Given the description of an element on the screen output the (x, y) to click on. 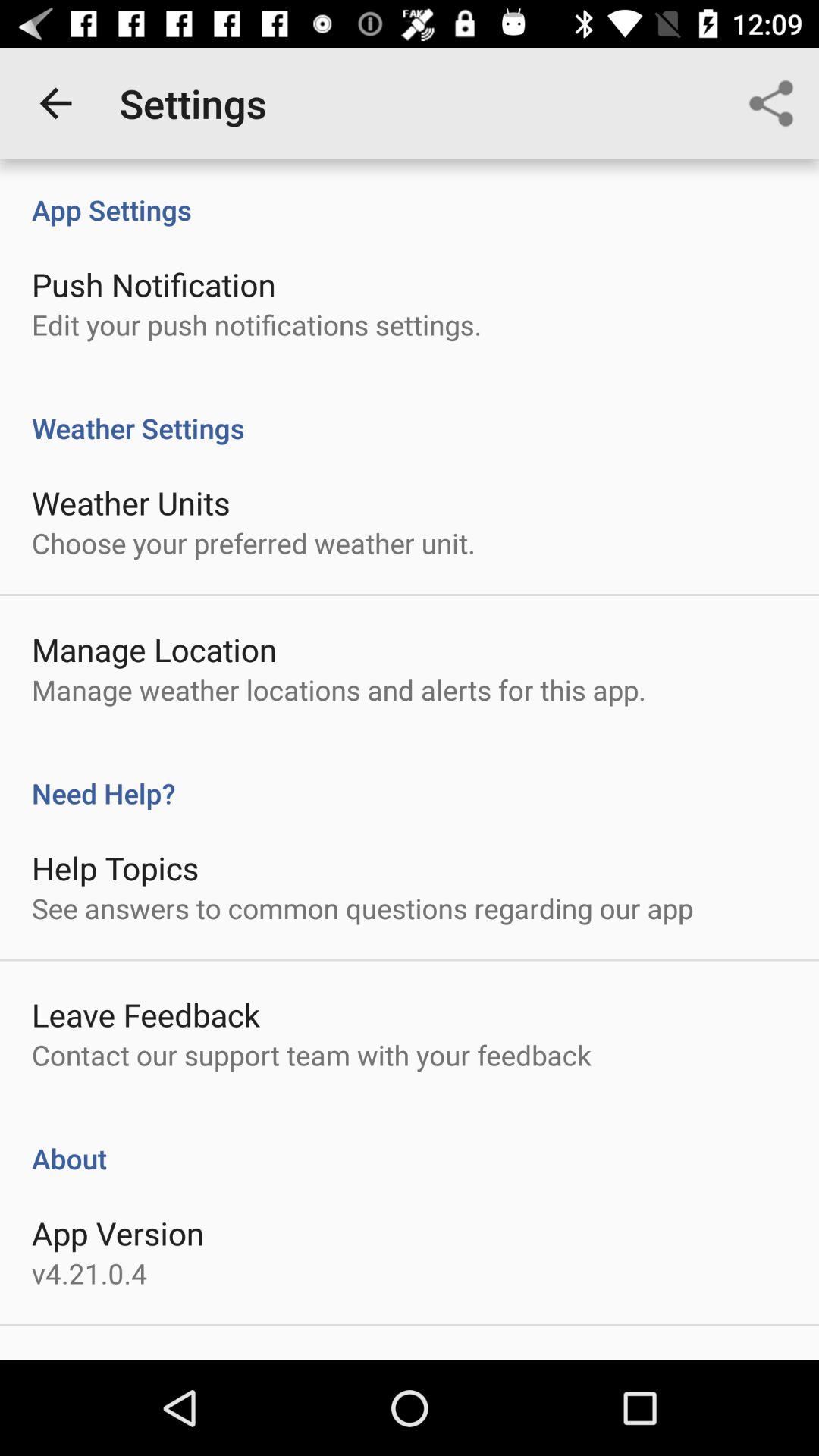
jump until push notification (153, 283)
